Given the description of an element on the screen output the (x, y) to click on. 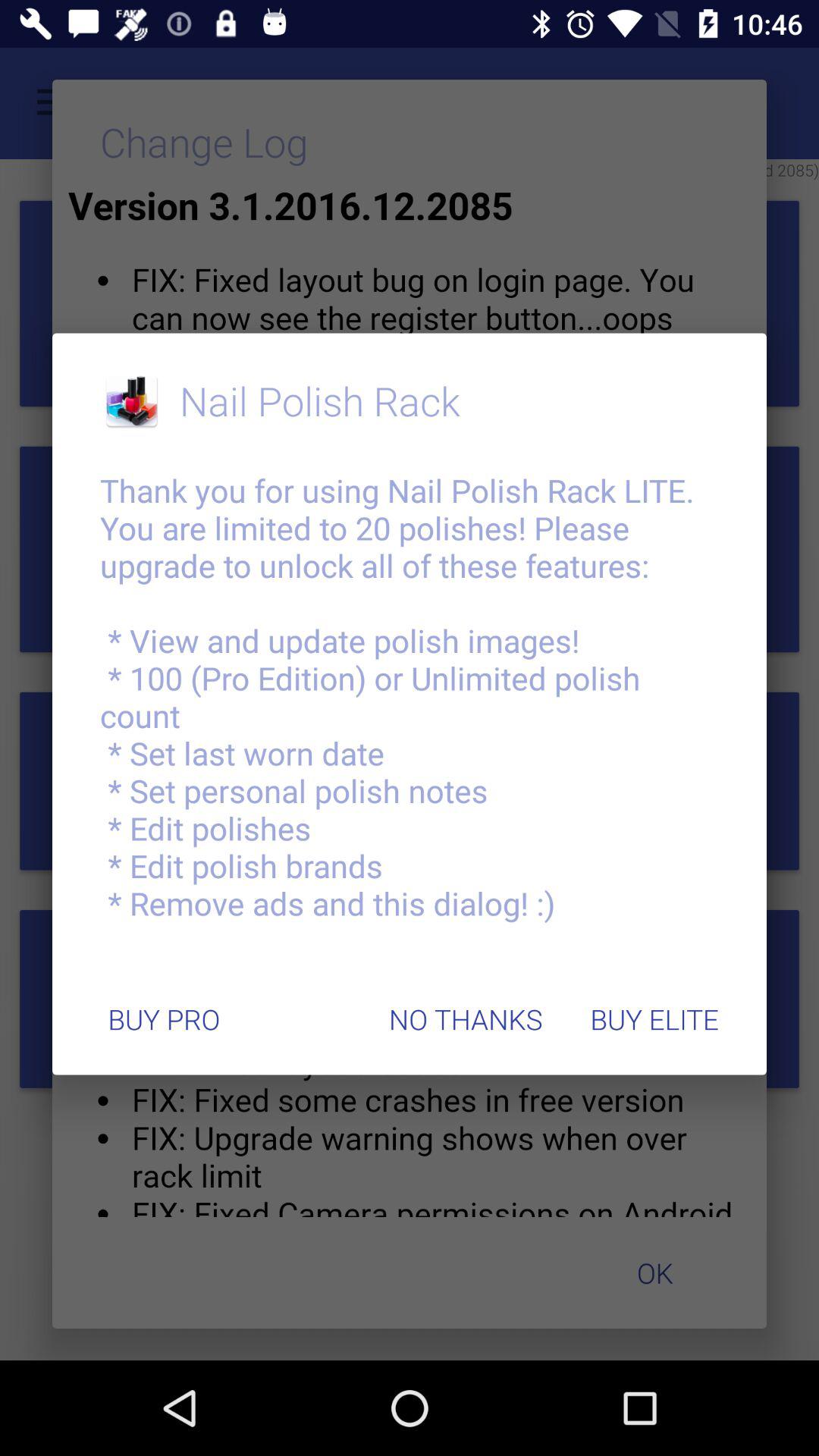
turn on the icon to the left of the no thanks (163, 1018)
